Given the description of an element on the screen output the (x, y) to click on. 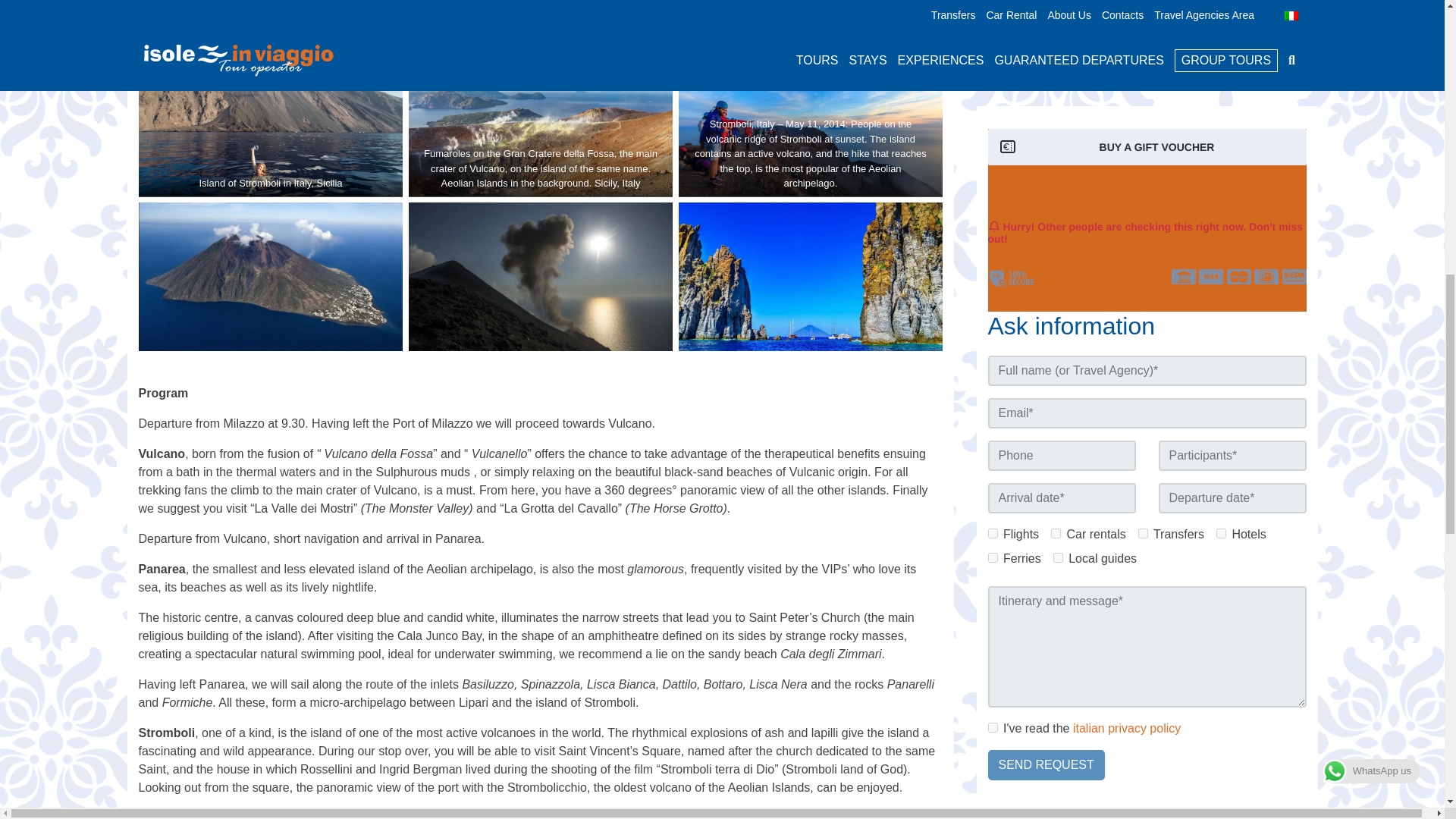
Ferries (992, 336)
Transfers (1143, 311)
1 (992, 506)
send request (1045, 543)
Car rentals (1056, 311)
Flights (992, 311)
Hotels (1220, 311)
Local guides (1057, 336)
